Given the description of an element on the screen output the (x, y) to click on. 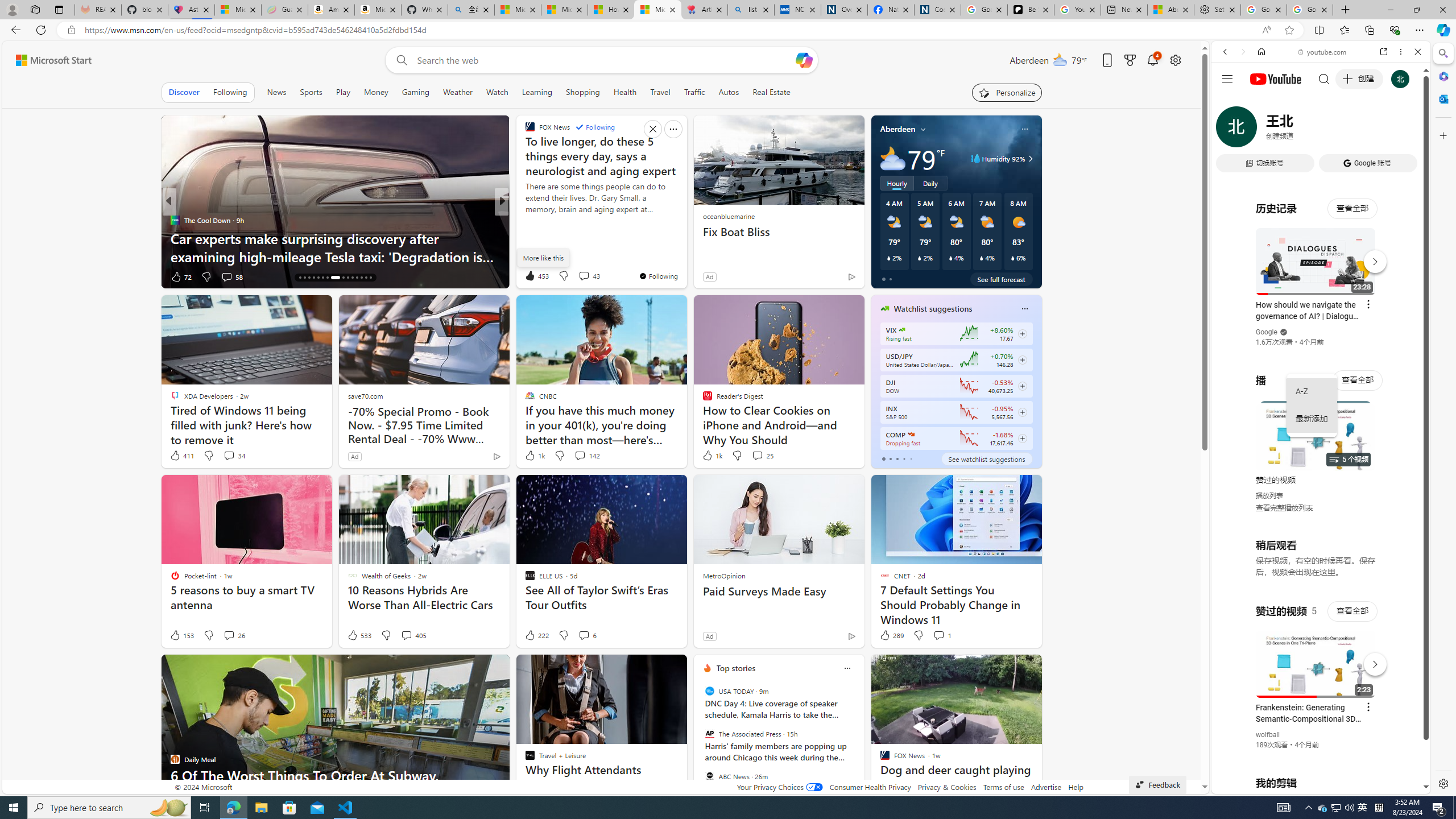
View comments 43 Comment (588, 275)
8 Like (178, 276)
Fix Boat Bliss (778, 232)
AutomationID: tab-21 (322, 277)
wolfball (1268, 734)
